Given the description of an element on the screen output the (x, y) to click on. 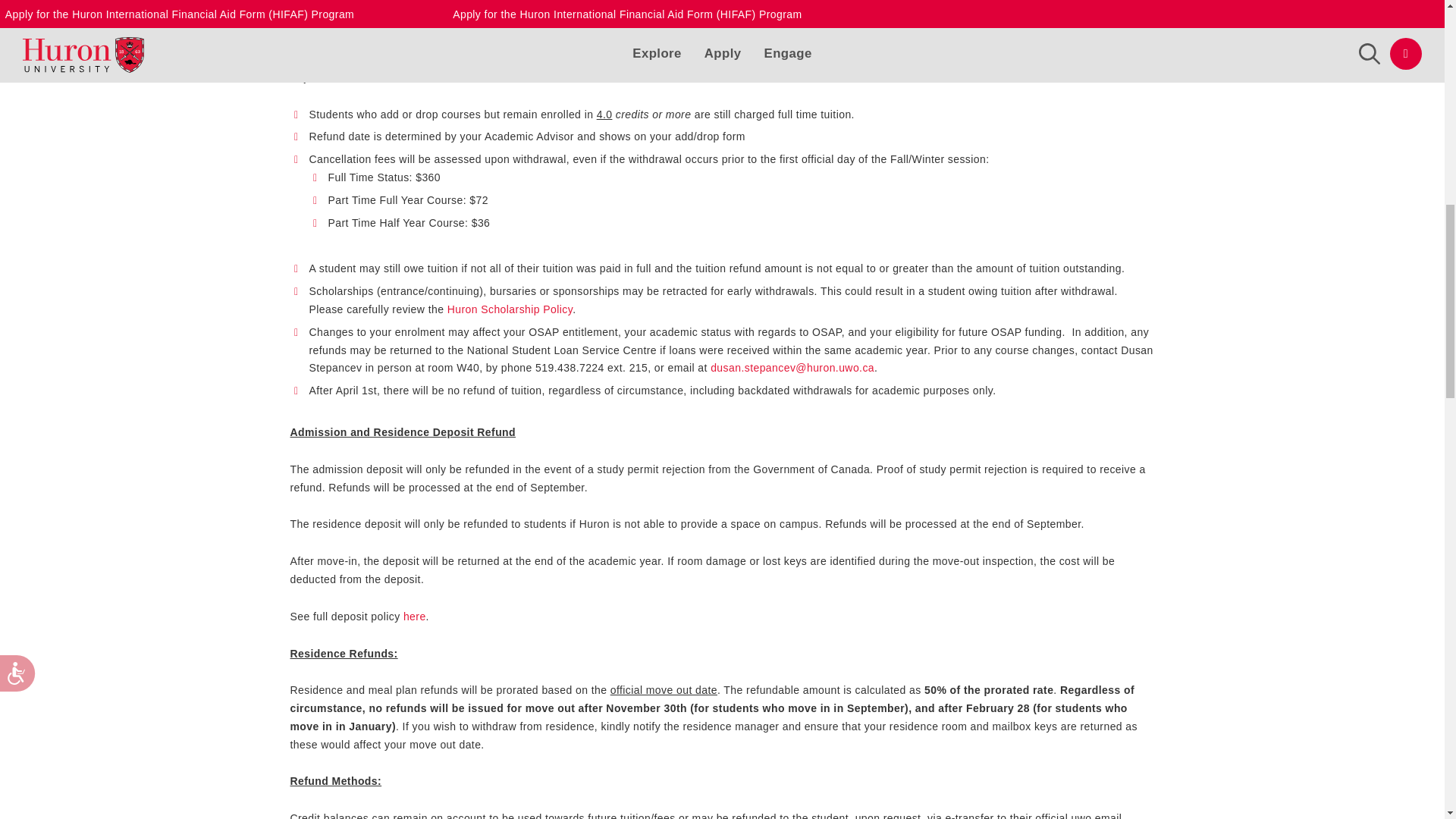
Huron Scholarship Policy (509, 309)
here (414, 616)
